Given the description of an element on the screen output the (x, y) to click on. 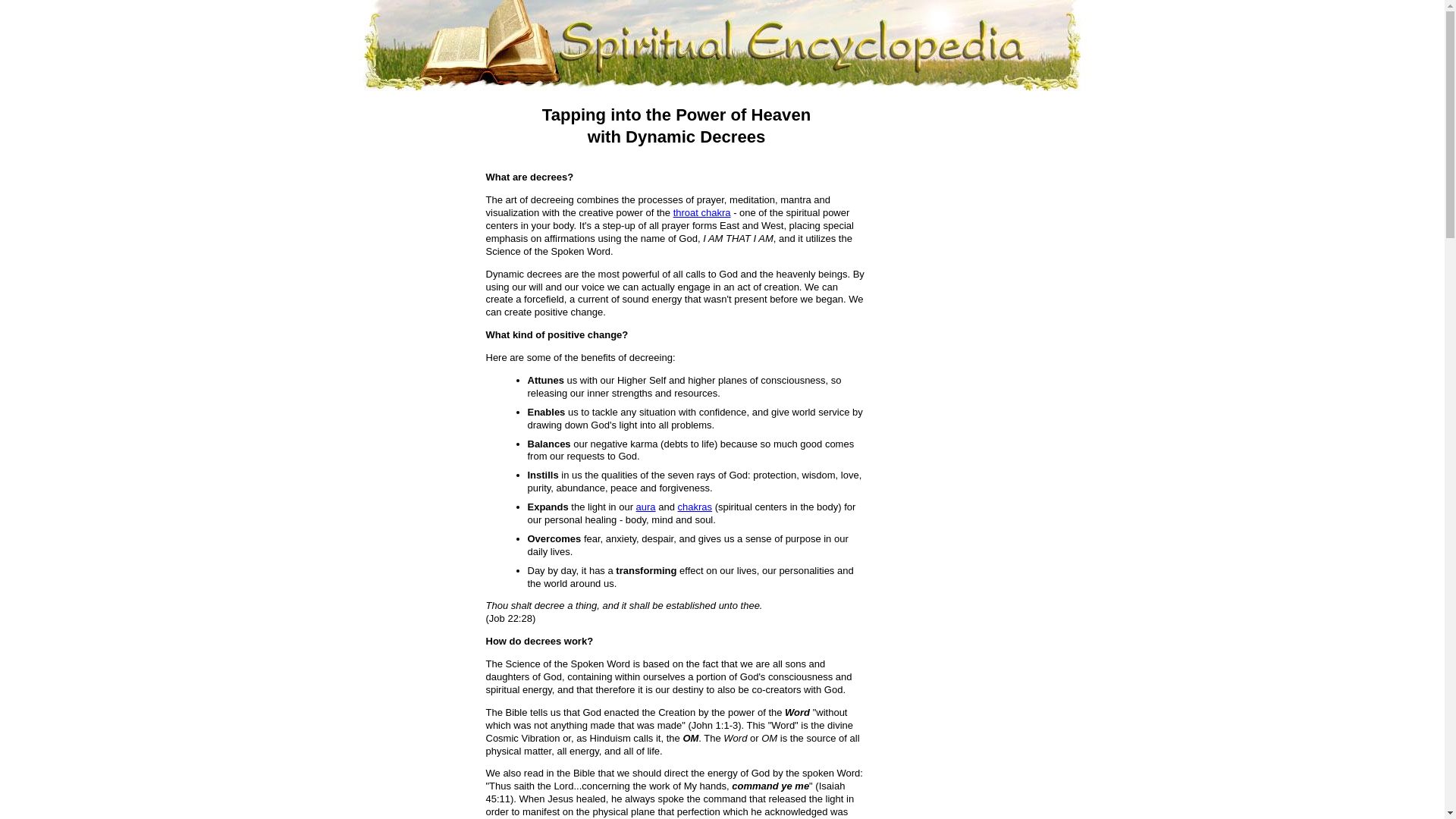
chakras (695, 506)
throat chakra (701, 212)
aura (646, 506)
